Given the description of an element on the screen output the (x, y) to click on. 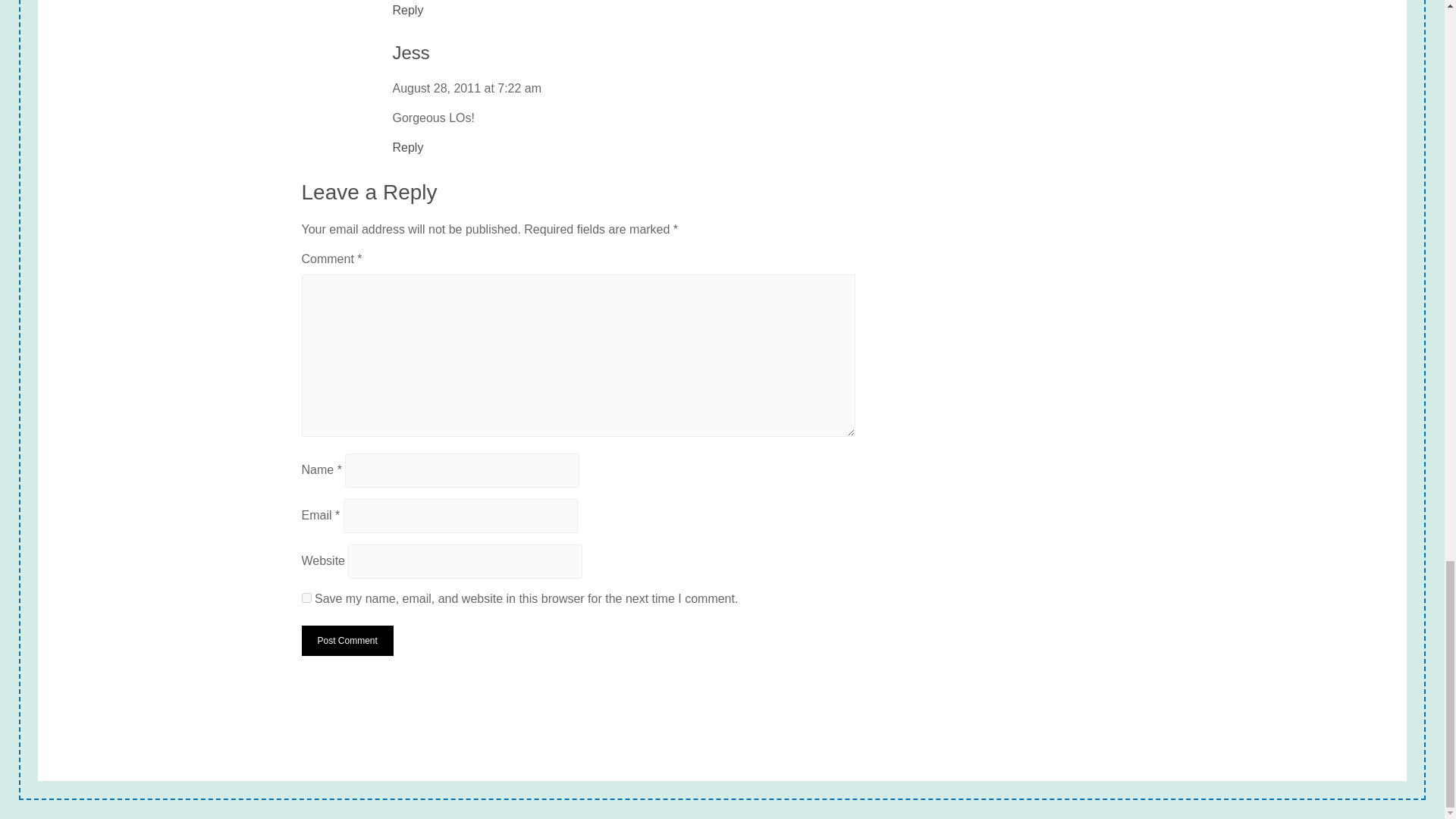
yes (306, 597)
Reply (408, 10)
Post Comment (347, 640)
Jess (411, 53)
Post Comment (347, 640)
Reply (408, 147)
